Given the description of an element on the screen output the (x, y) to click on. 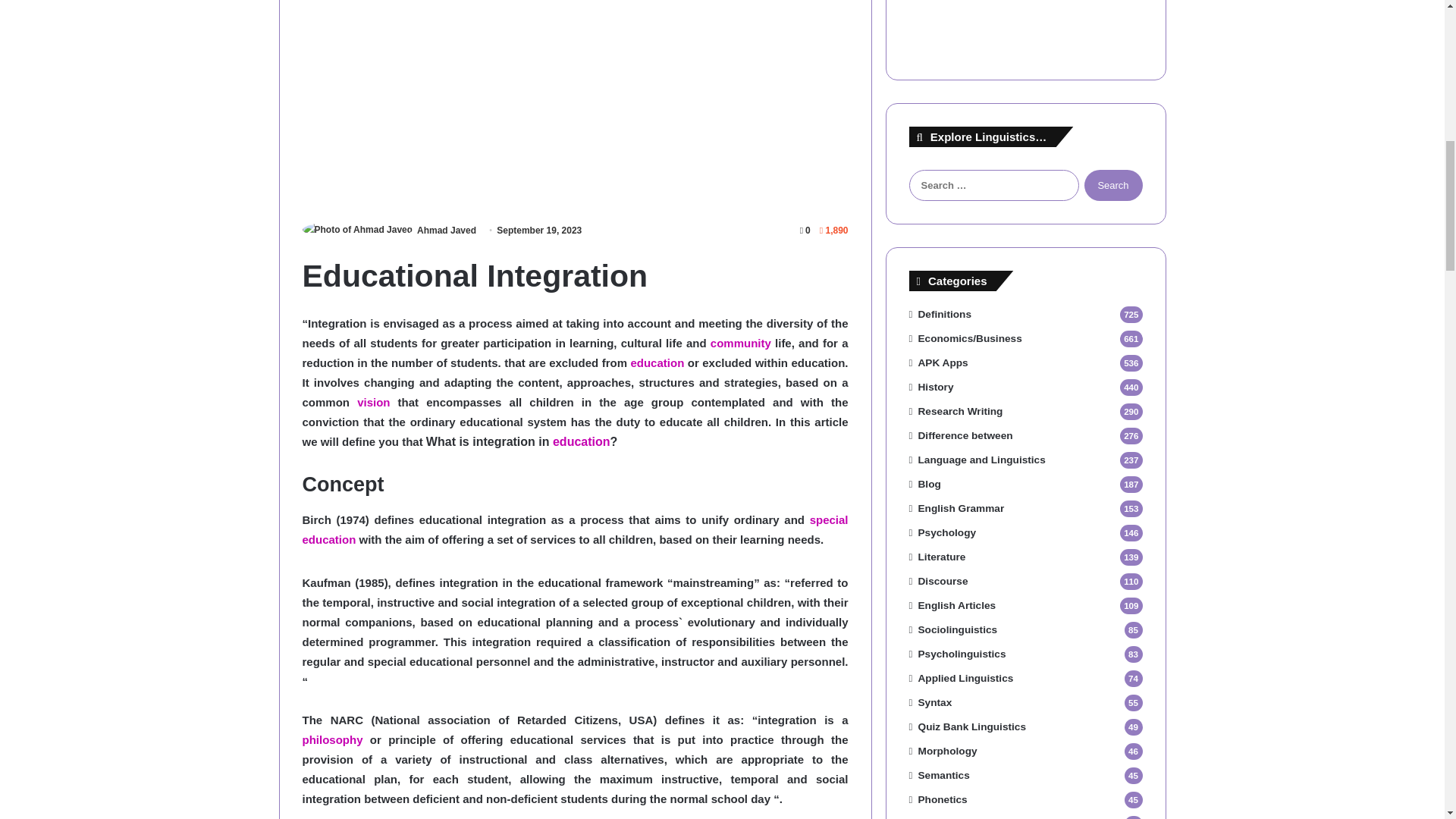
education (657, 362)
vision (373, 401)
community (740, 342)
philosophy (331, 739)
education (581, 440)
Advertisement (574, 103)
special education (574, 529)
community (740, 342)
philosophy (331, 739)
vision (373, 401)
special education (574, 529)
Ahmad Javed (446, 230)
education (581, 440)
Search (1113, 184)
Search (1113, 184)
